Given the description of an element on the screen output the (x, y) to click on. 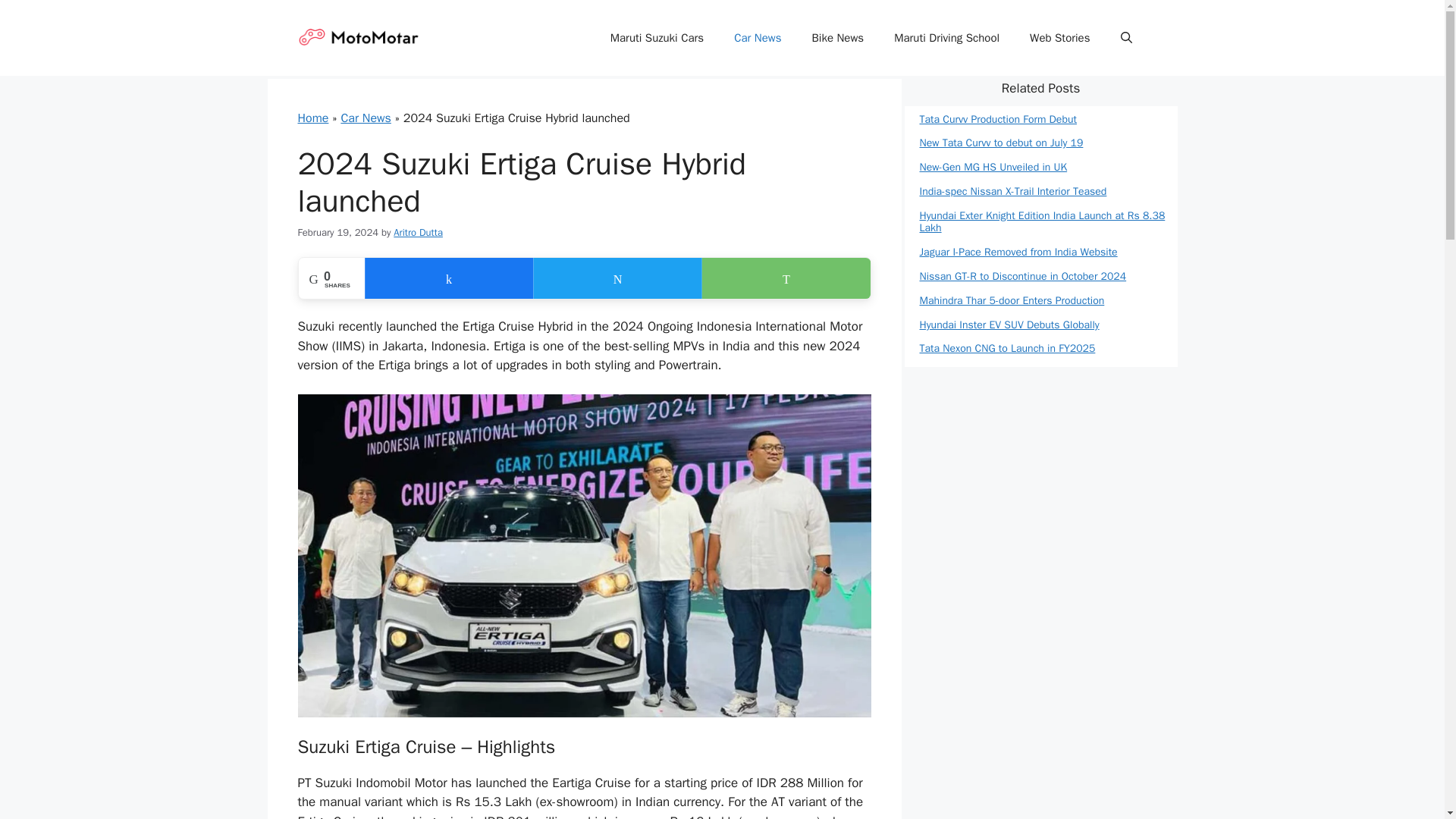
Web Stories (1059, 37)
Bike News (837, 37)
India-spec Nissan X-Trail Interior Teased (1012, 191)
Hyundai Inster EV SUV Debuts Globally (1008, 324)
Car News (365, 118)
New-Gen MG HS Unveiled in UK (992, 166)
Hyundai Exter Knight Edition India Launch at Rs 8.38 Lakh (1041, 222)
Tata Nexon CNG to Launch in FY2025 (1006, 348)
Maruti Suzuki Cars (657, 37)
Car News (757, 37)
Mahindra Thar 5-door Enters Production (1010, 300)
Aritro Dutta (417, 232)
Home (313, 118)
New Tata Curvv to debut on July 19 (1000, 142)
